Given the description of an element on the screen output the (x, y) to click on. 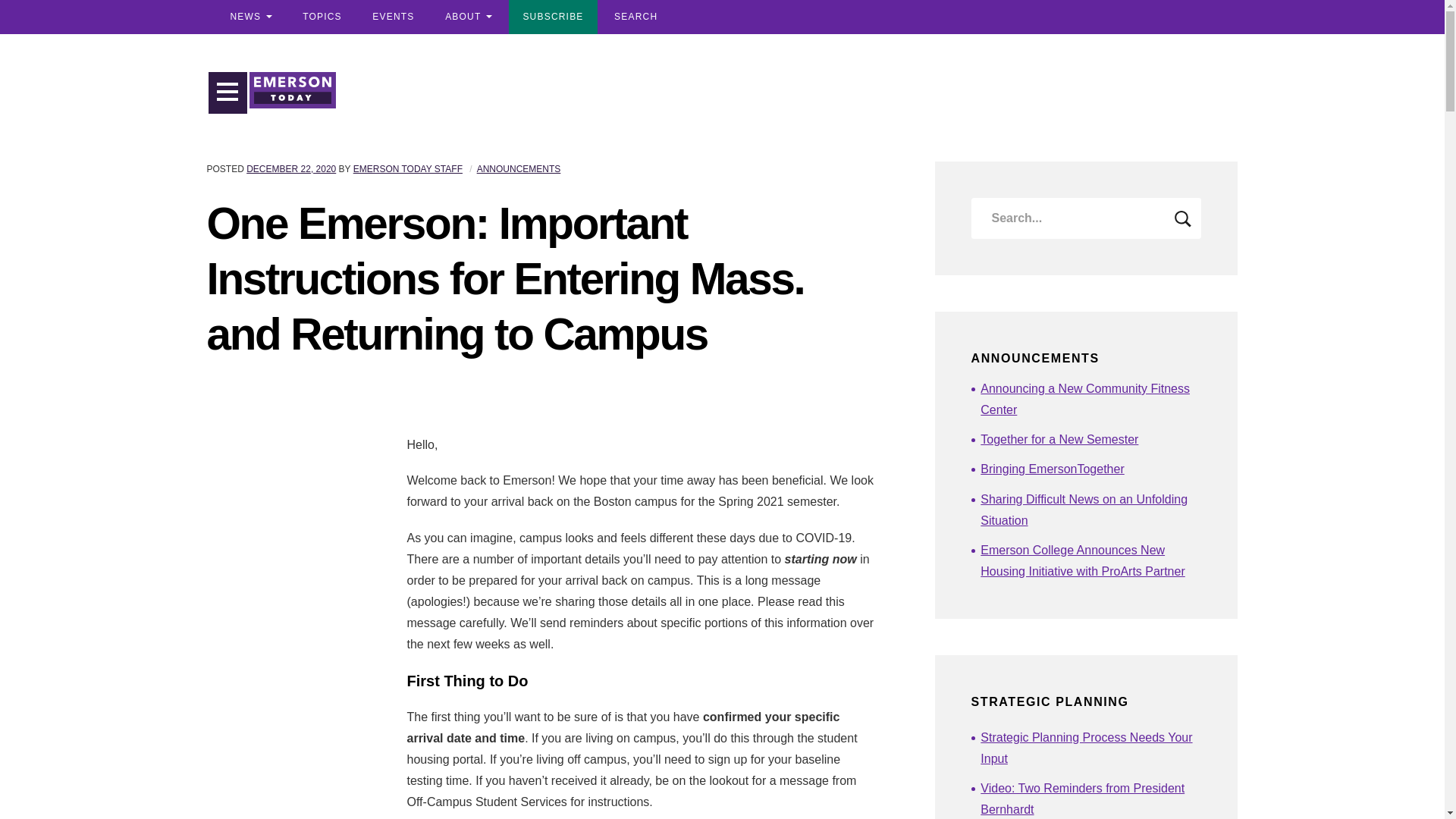
SEARCH (635, 17)
SUBSCRIBE (552, 17)
ANNOUNCEMENTS (518, 168)
ABOUT (467, 17)
DECEMBER 22, 2020 (291, 168)
NEWS (250, 17)
EVENTS (393, 17)
TOPICS (321, 17)
OPEN MENU OVERLAY (227, 92)
EMERSON TODAY STAFF (408, 168)
